Given the description of an element on the screen output the (x, y) to click on. 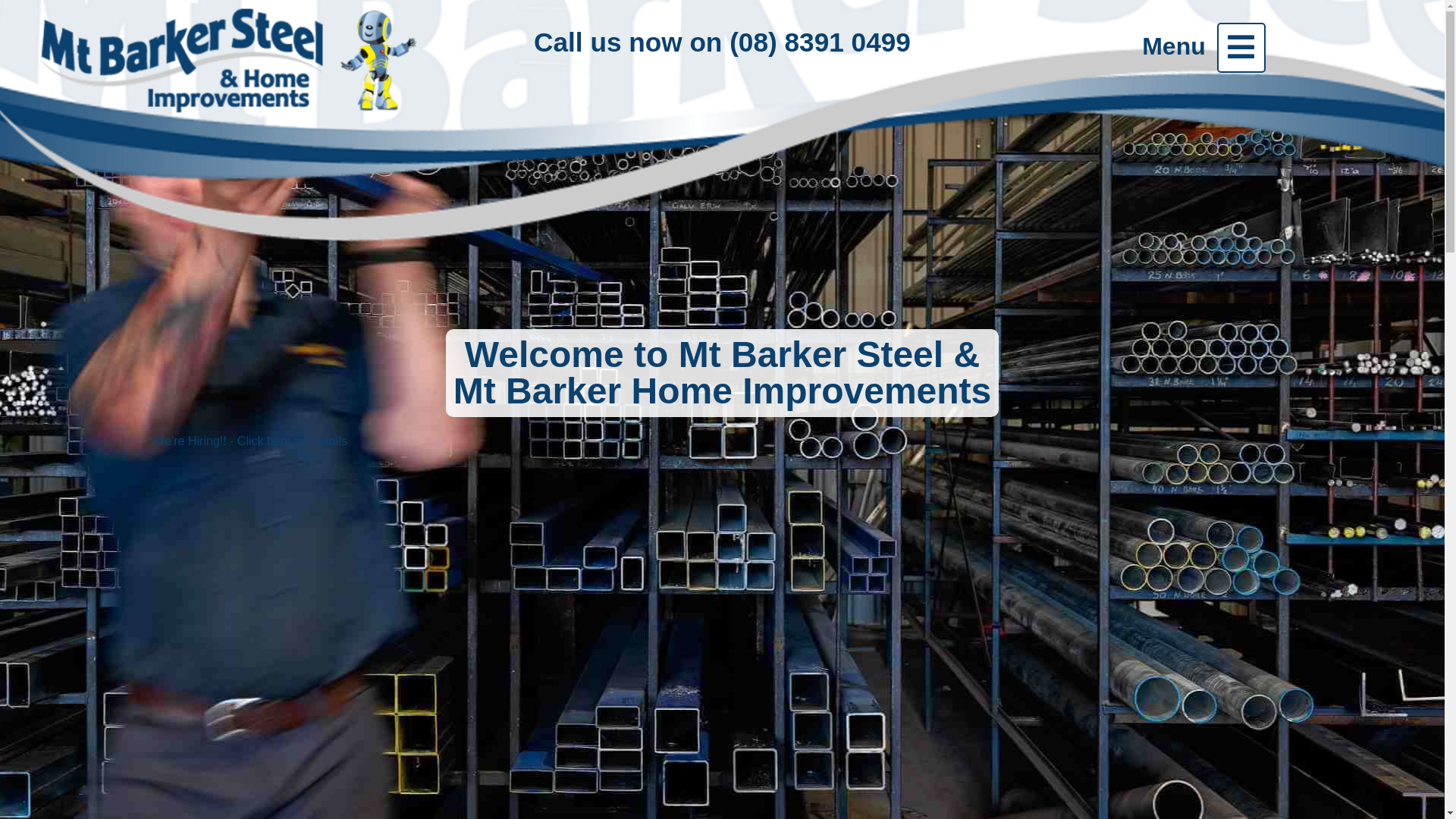
(08) 8391 0499 Element type: text (819, 41)
We're Hiring!! - Click here for details Element type: text (249, 440)
